Given the description of an element on the screen output the (x, y) to click on. 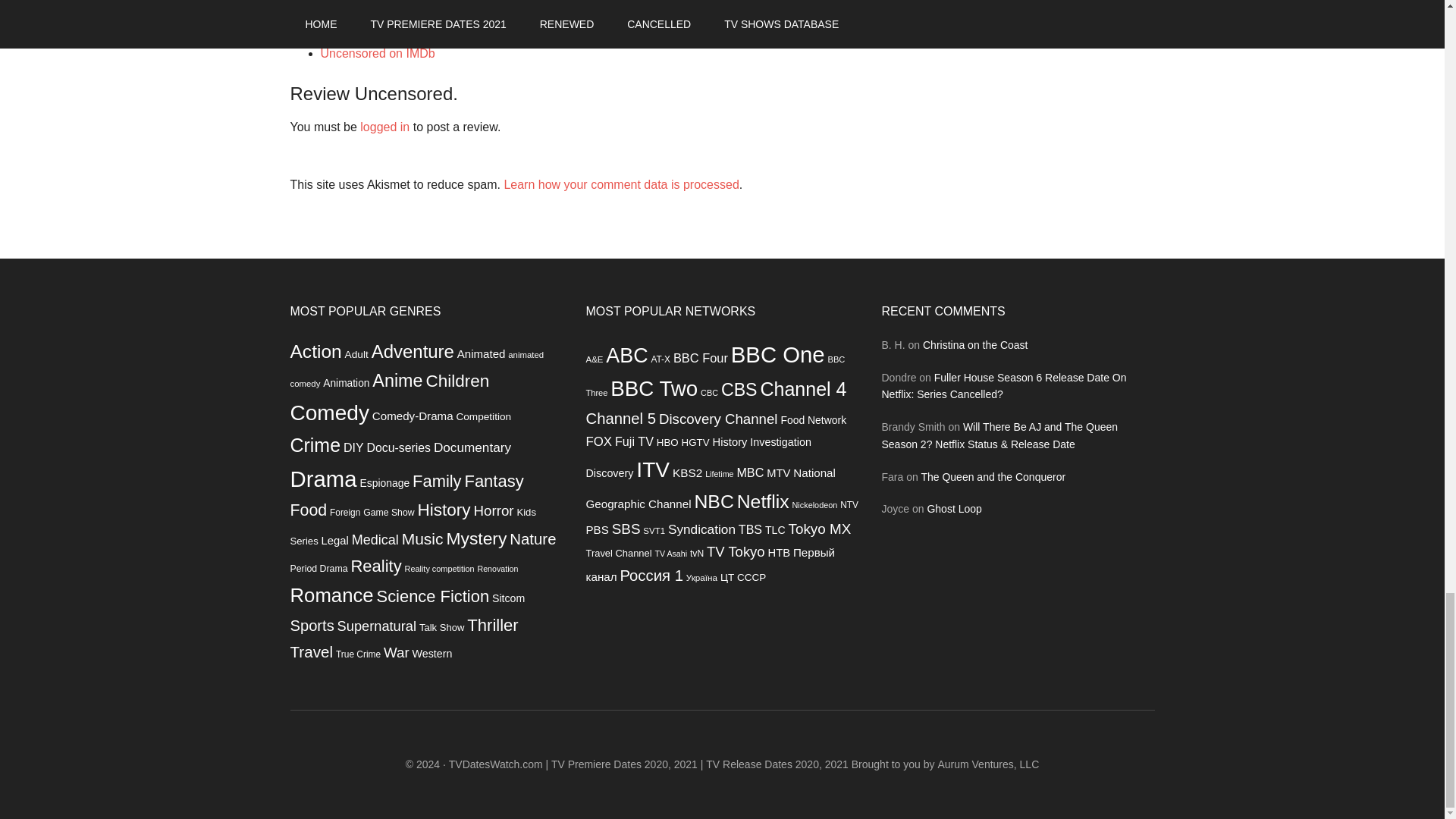
Action (314, 351)
logged in (384, 126)
Adventure (412, 351)
Animated (481, 353)
Uncensored on IMDb (376, 52)
Official Uncensored show page (403, 33)
Learn how your comment data is processed (620, 184)
Adult (356, 354)
